Given the description of an element on the screen output the (x, y) to click on. 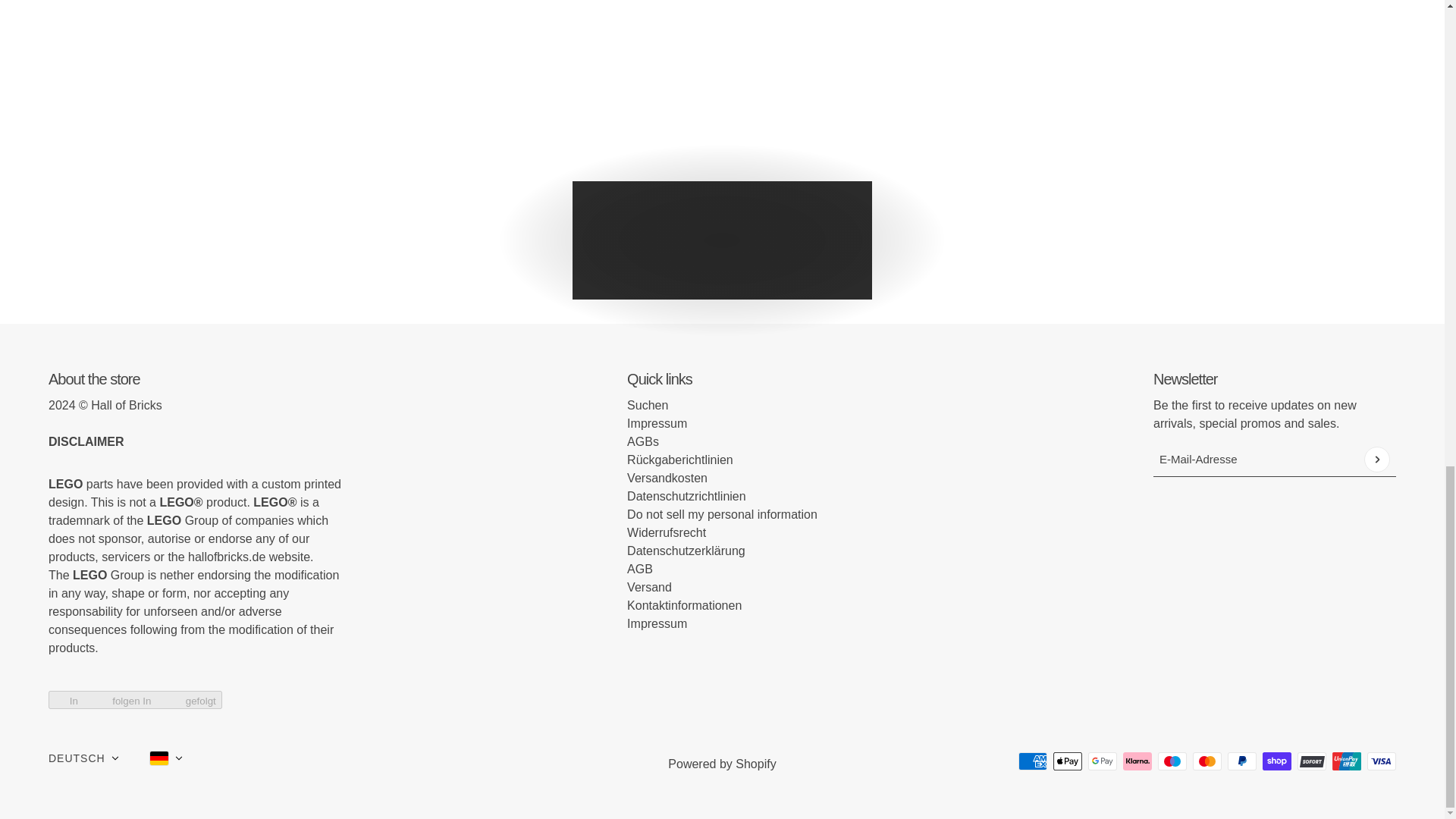
AGB (639, 568)
AGBs (643, 440)
Impressum (657, 623)
Datenschutzrichtlinien (686, 495)
Impressum (657, 422)
Widerrufsrecht (666, 532)
Kontaktinformationen (684, 604)
Versand (649, 586)
Versandkosten (667, 477)
Do not sell my personal information (721, 513)
